Given the description of an element on the screen output the (x, y) to click on. 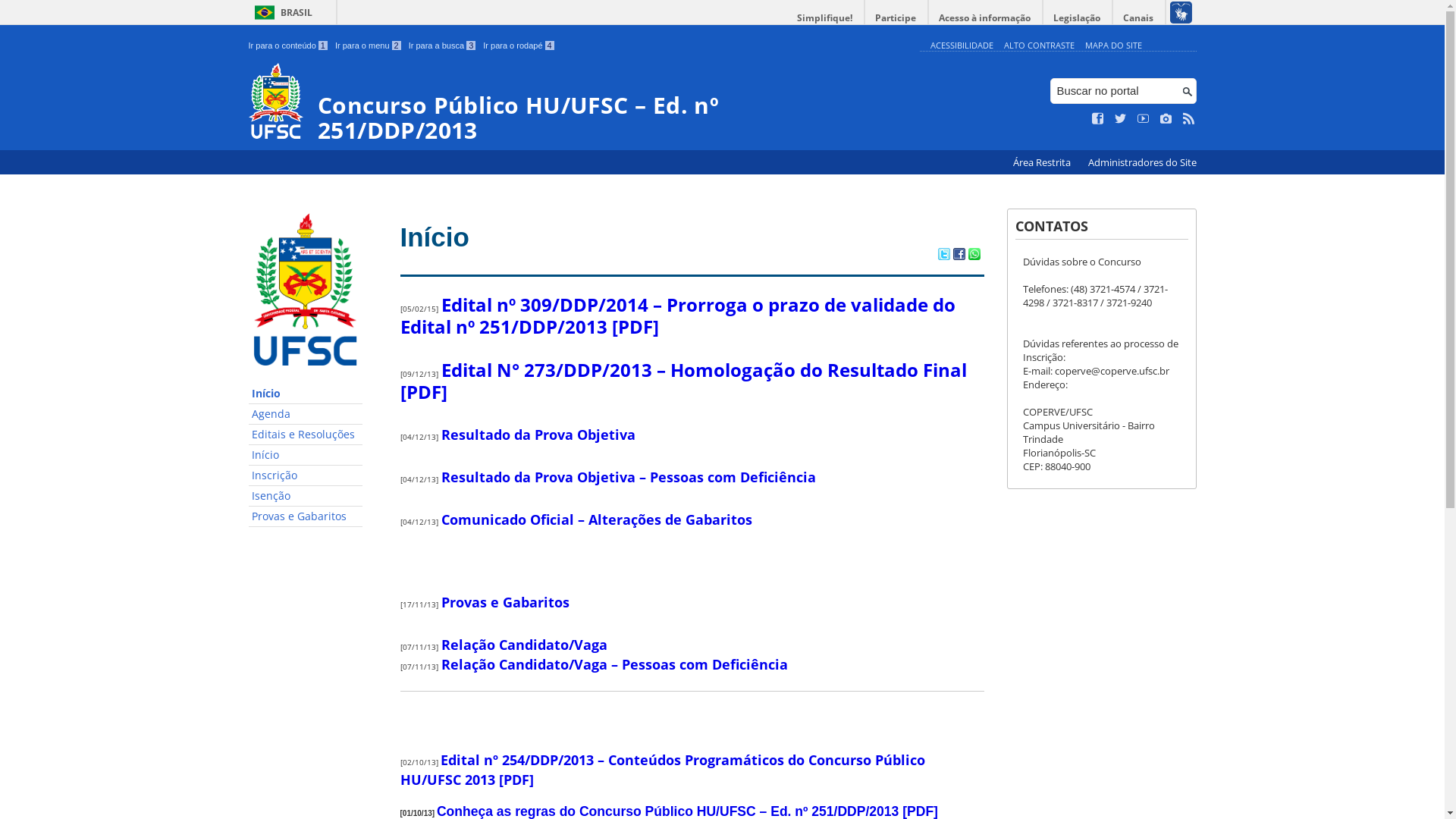
Compartilhar no Twitter Element type: hover (943, 255)
Simplifique! Element type: text (825, 18)
Provas e Gabaritos Element type: text (505, 602)
Ir para o menu 2 Element type: text (368, 45)
MAPA DO SITE Element type: text (1112, 44)
Compartilhar no WhatsApp Element type: hover (973, 255)
Siga no Twitter Element type: hover (1120, 118)
Provas e Gabaritos Element type: text (305, 516)
Compartilhar no Facebook Element type: hover (958, 255)
Veja no Instagram Element type: hover (1166, 118)
Canais Element type: text (1138, 18)
Administradores do Site Element type: text (1141, 162)
Agenda Element type: text (305, 414)
Resultado da Prova Objetiva Element type: text (538, 434)
BRASIL Element type: text (280, 12)
ACESSIBILIDADE Element type: text (960, 44)
Curta no Facebook Element type: hover (1098, 118)
ALTO CONTRASTE Element type: text (1039, 44)
Ir para a busca 3 Element type: text (442, 45)
Participe Element type: text (895, 18)
